Given the description of an element on the screen output the (x, y) to click on. 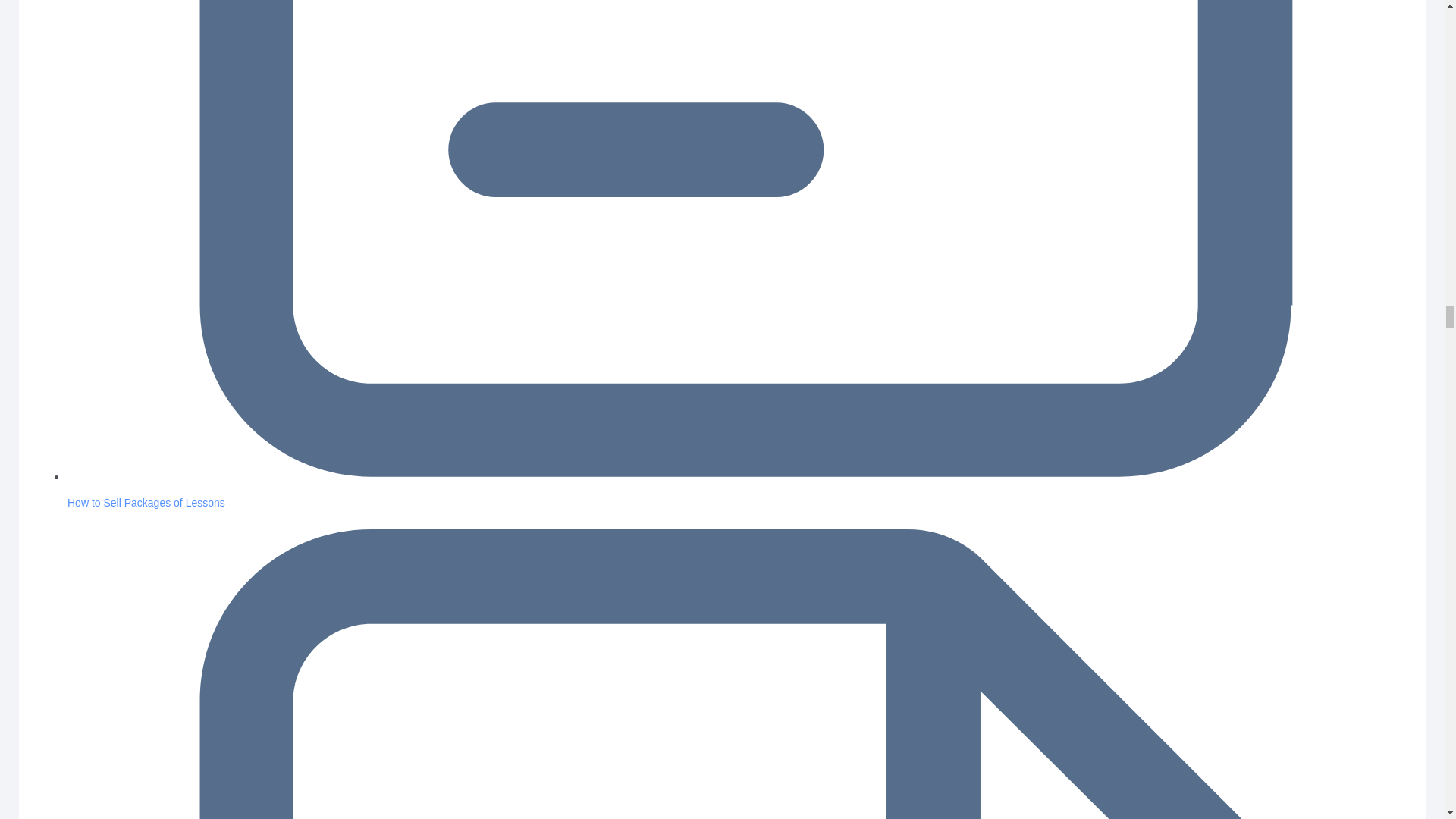
How to Sell Packages of Lessons (145, 502)
